Given the description of an element on the screen output the (x, y) to click on. 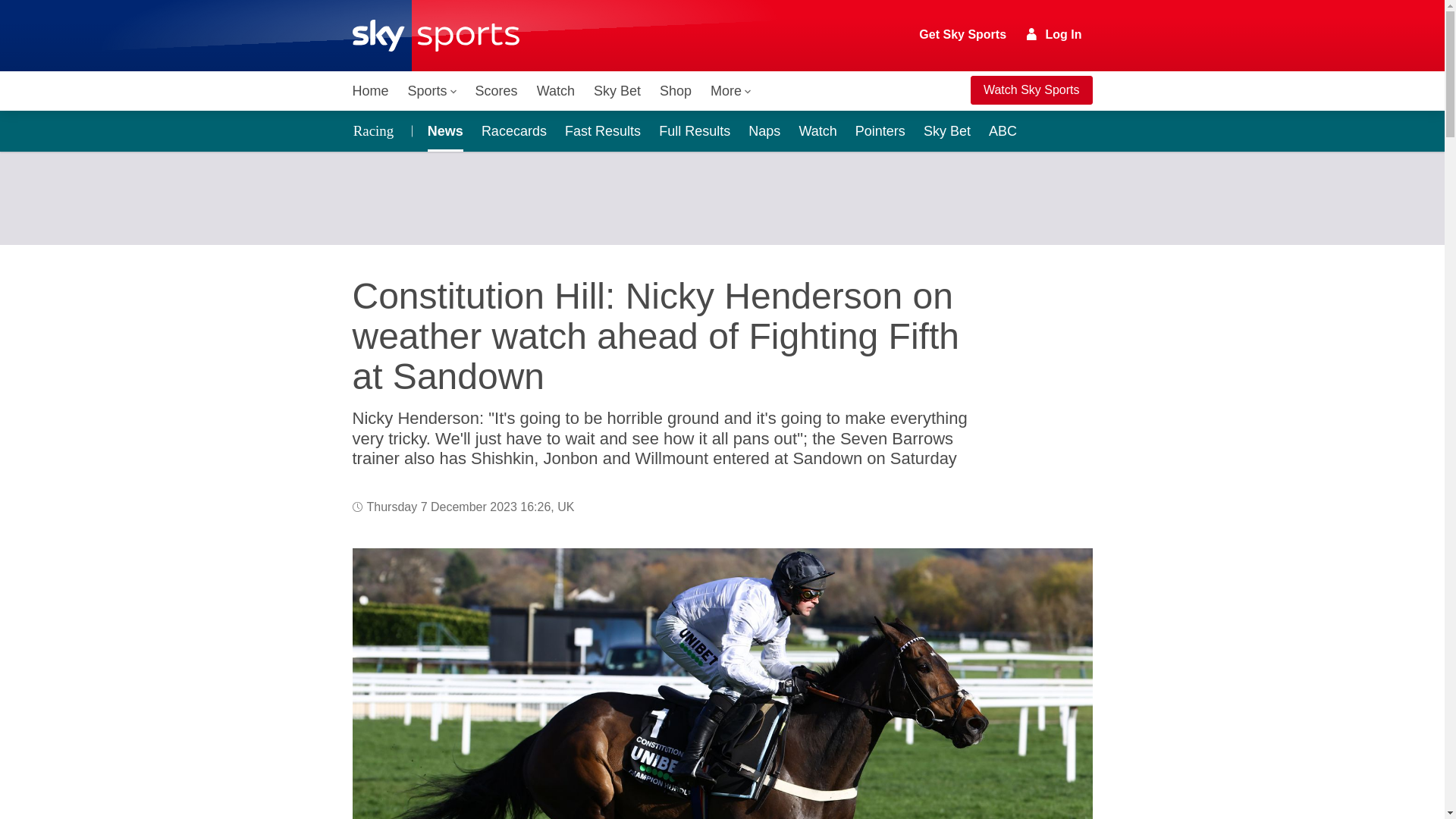
Home (369, 91)
Log In (1053, 33)
More (730, 91)
Watch Sky Sports (1032, 90)
Get Sky Sports (962, 34)
Sky Bet (616, 91)
Sports (432, 91)
Watch (555, 91)
Racing (377, 130)
Scores (496, 91)
